Given the description of an element on the screen output the (x, y) to click on. 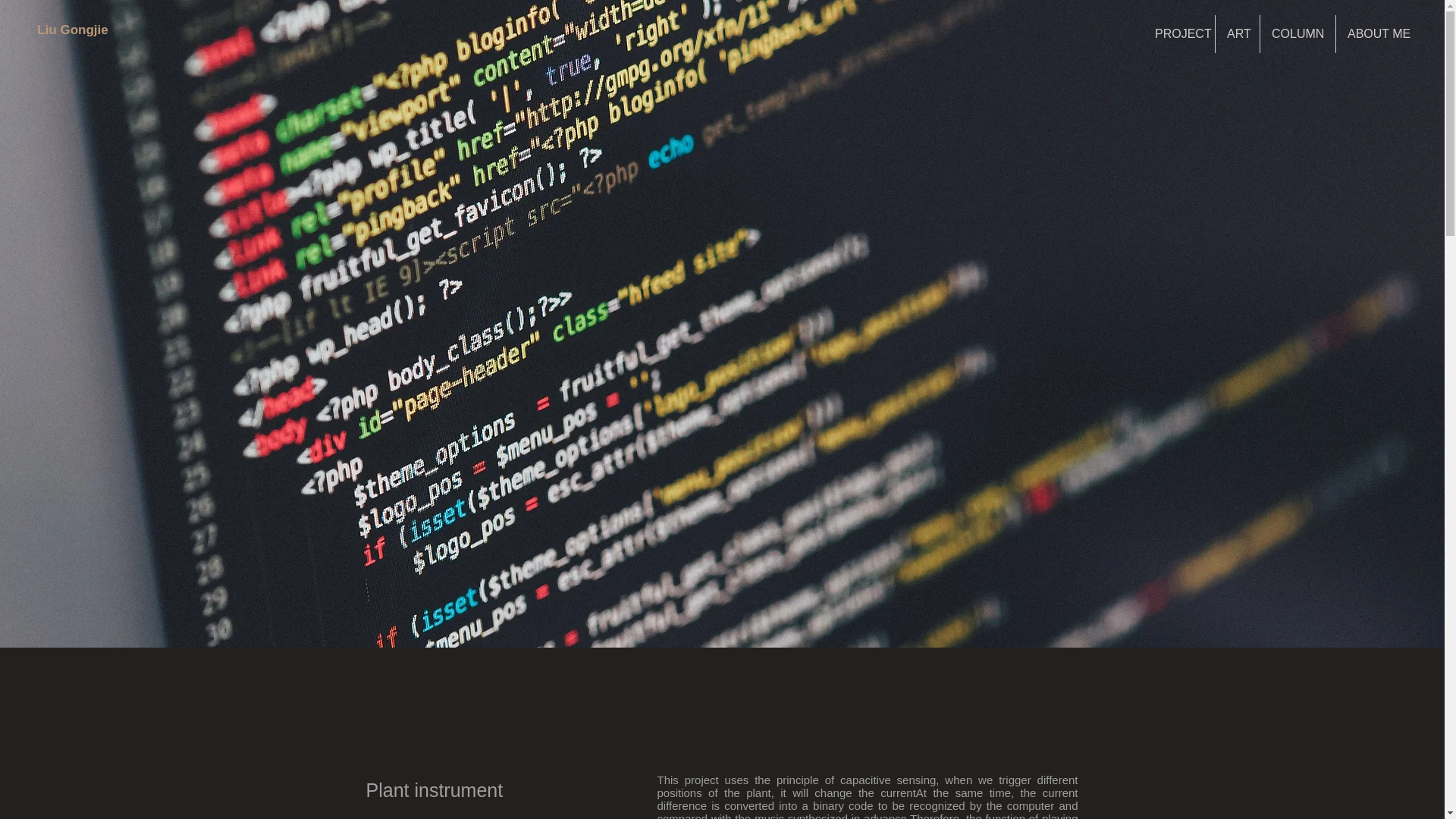
PROJECT (1178, 34)
Liu Gongjie (72, 30)
COLUMN (1297, 34)
ART (1237, 34)
ABOUT ME (1378, 34)
